Given the description of an element on the screen output the (x, y) to click on. 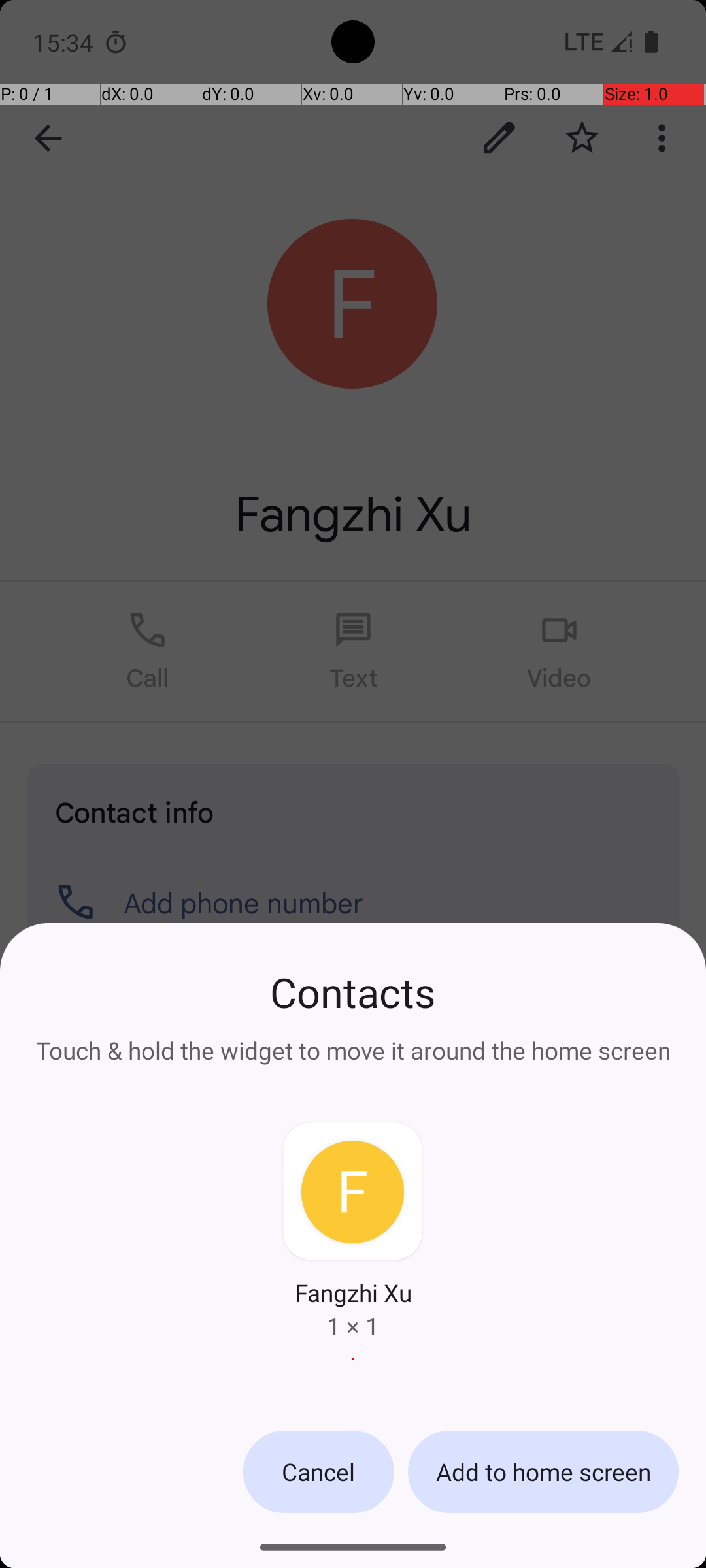
Touch & hold the widget to move it around the home screen Element type: android.widget.TextView (352, 1042)
Add to home screen Element type: android.widget.Button (542, 1471)
Fangzhi Xu Element type: android.widget.TextView (352, 1292)
1 × 1 Element type: android.widget.TextView (352, 1325)
